Given the description of an element on the screen output the (x, y) to click on. 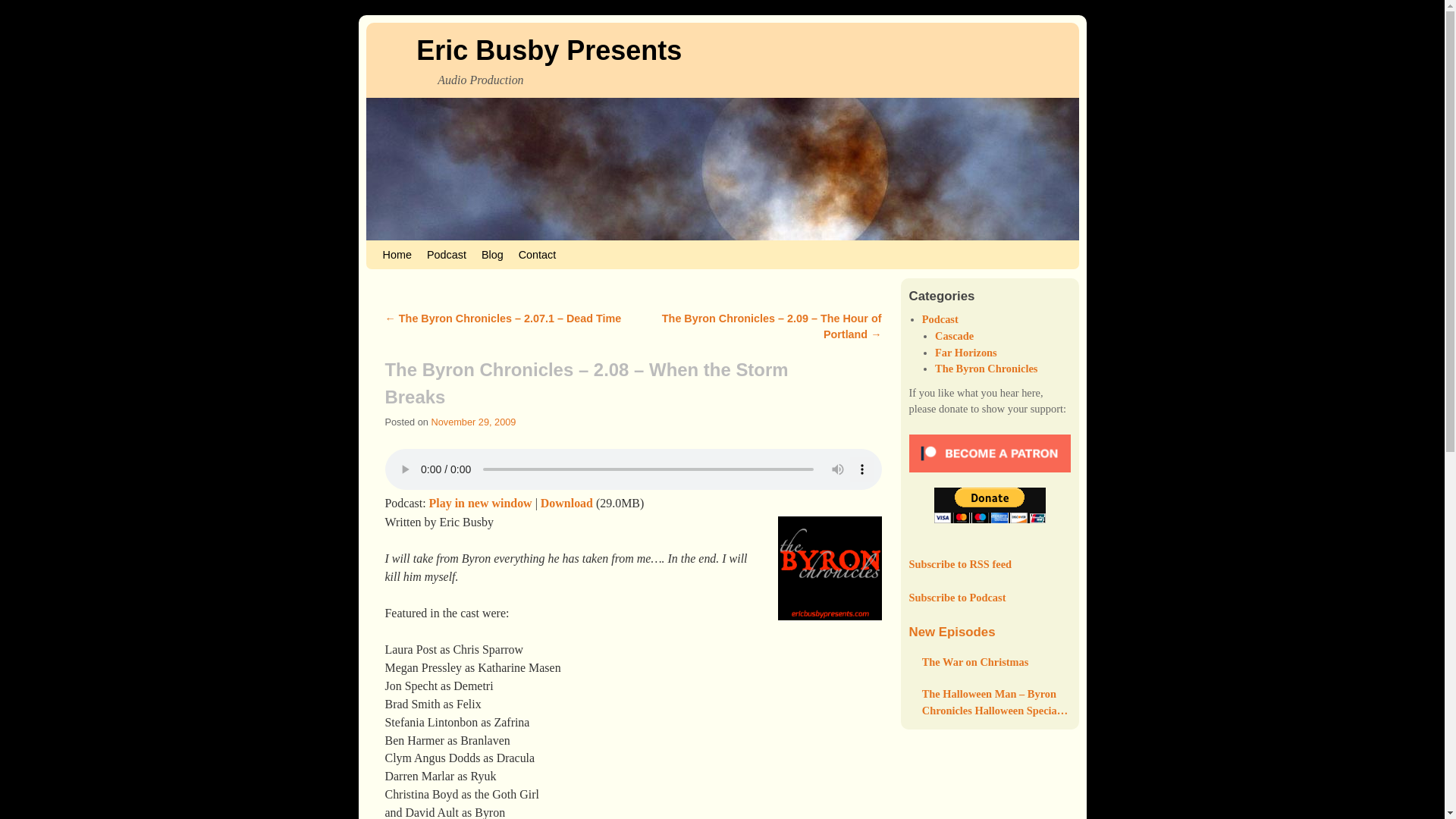
Play in new window (480, 502)
Skip to secondary content (415, 246)
Download (566, 502)
Contact (537, 254)
Far Horizons (965, 352)
Subscribe to Podcast (957, 597)
Home (396, 254)
New Episodes (951, 631)
Subscribe to RSS feed (959, 563)
The Byron Chronicles (985, 368)
